Given the description of an element on the screen output the (x, y) to click on. 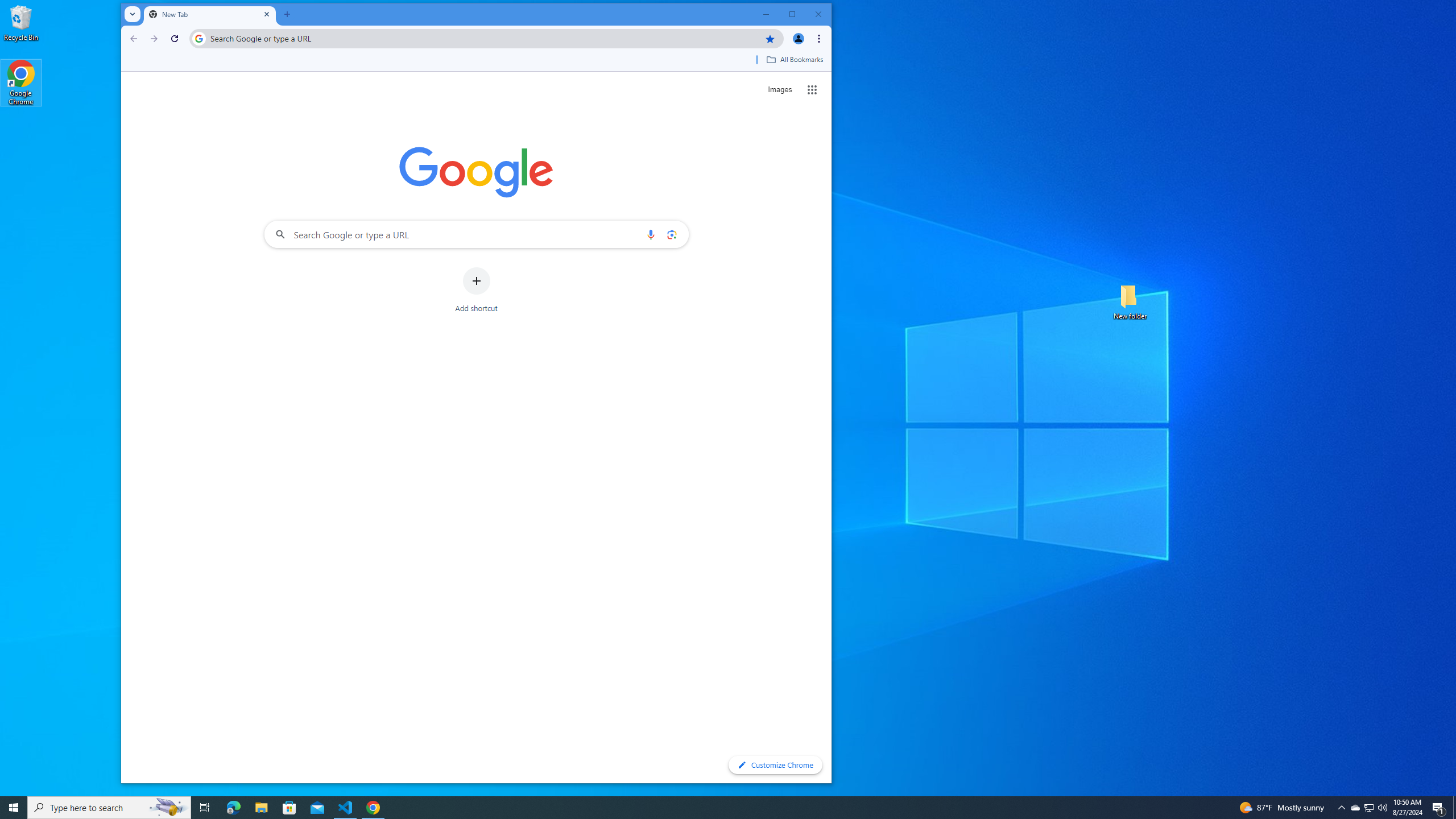
New folder (1130, 301)
Google Chrome (21, 82)
Recycle Bin (21, 22)
